Given the description of an element on the screen output the (x, y) to click on. 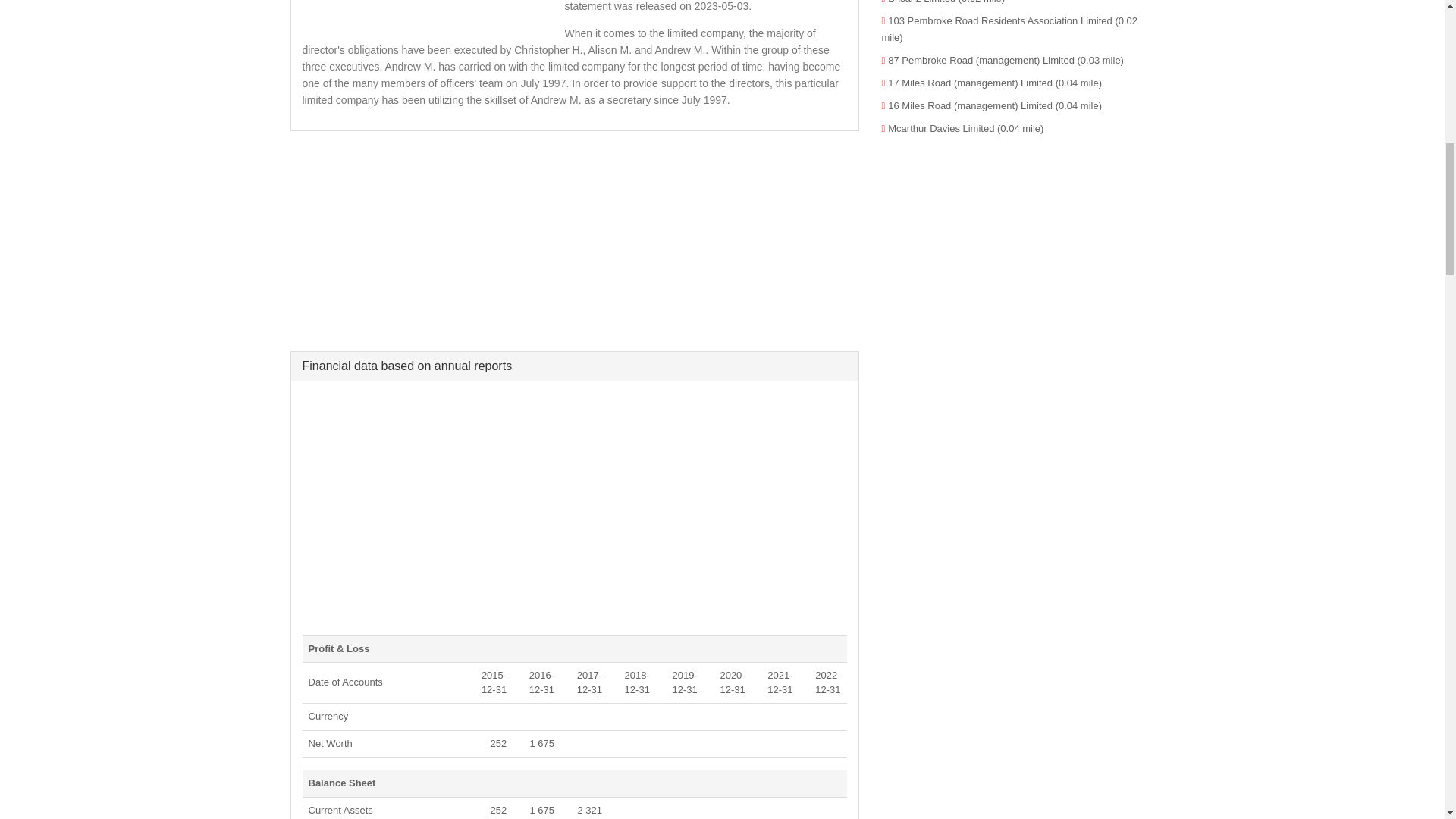
Assets to be used or sold within a year (339, 809)
Company's total assets minus its liabilities (329, 743)
